Given the description of an element on the screen output the (x, y) to click on. 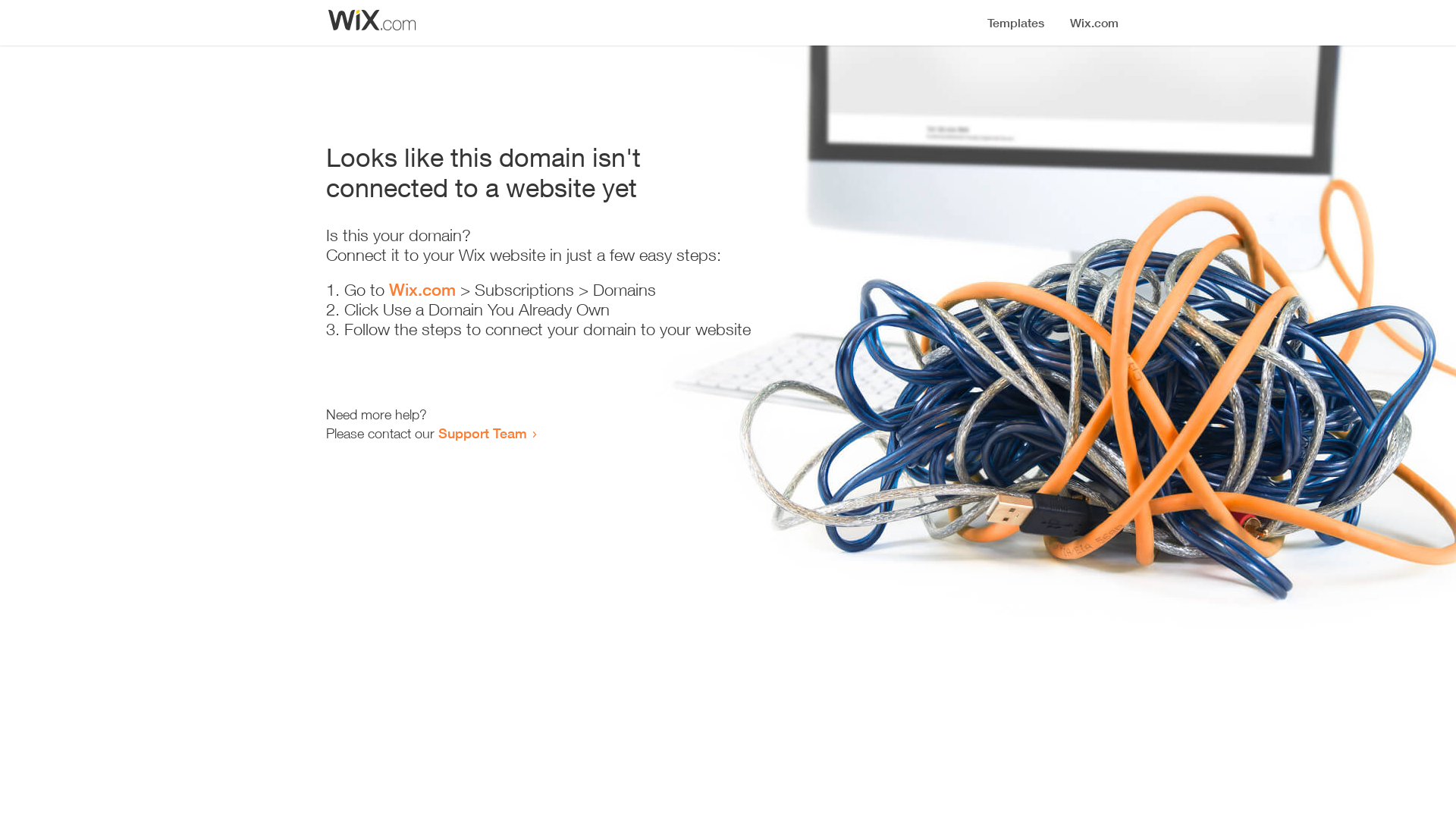
Wix.com Element type: text (422, 289)
Support Team Element type: text (482, 432)
